Given the description of an element on the screen output the (x, y) to click on. 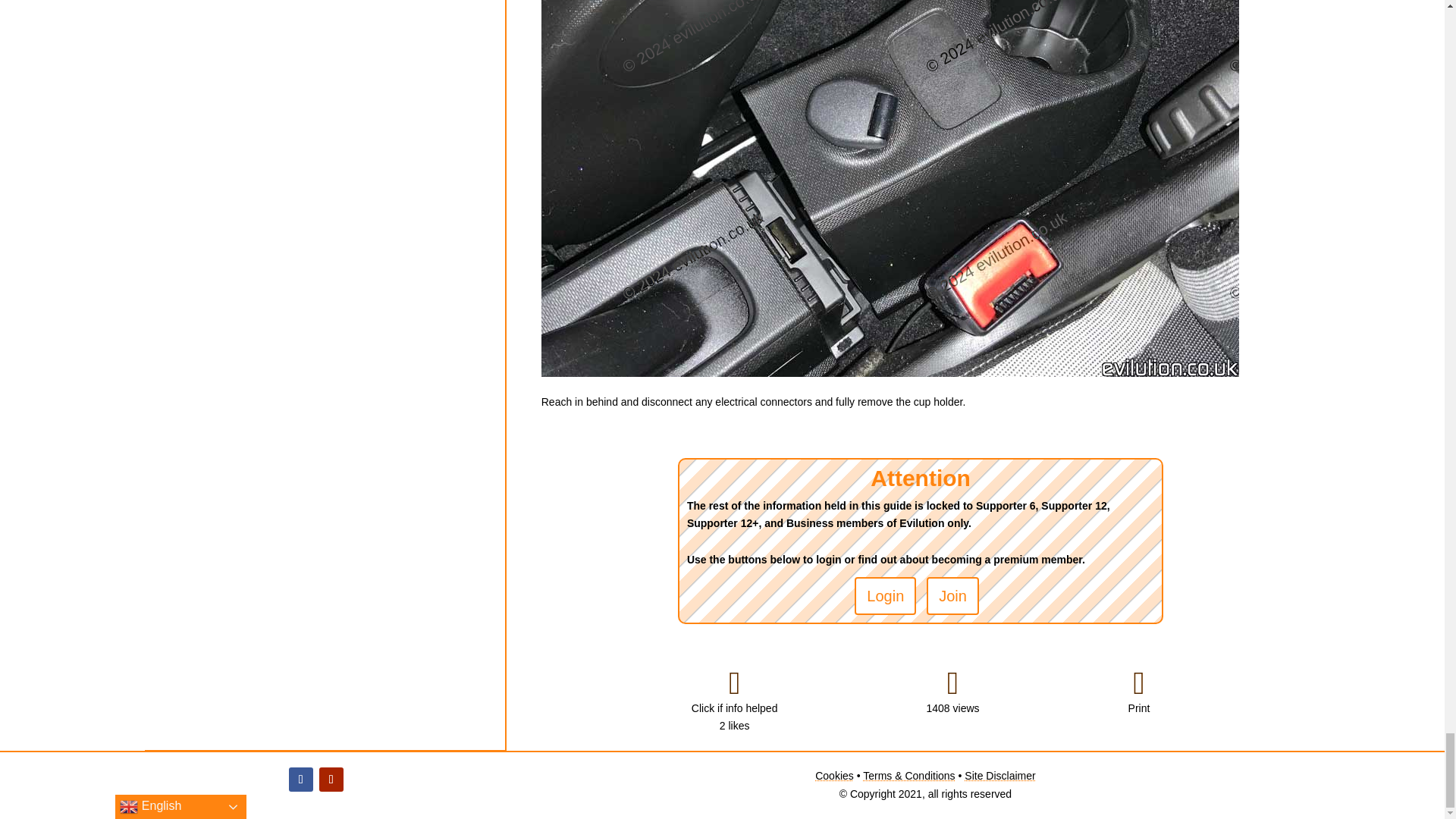
Follow on Youtube (330, 779)
Follow on Facebook (300, 779)
